Given the description of an element on the screen output the (x, y) to click on. 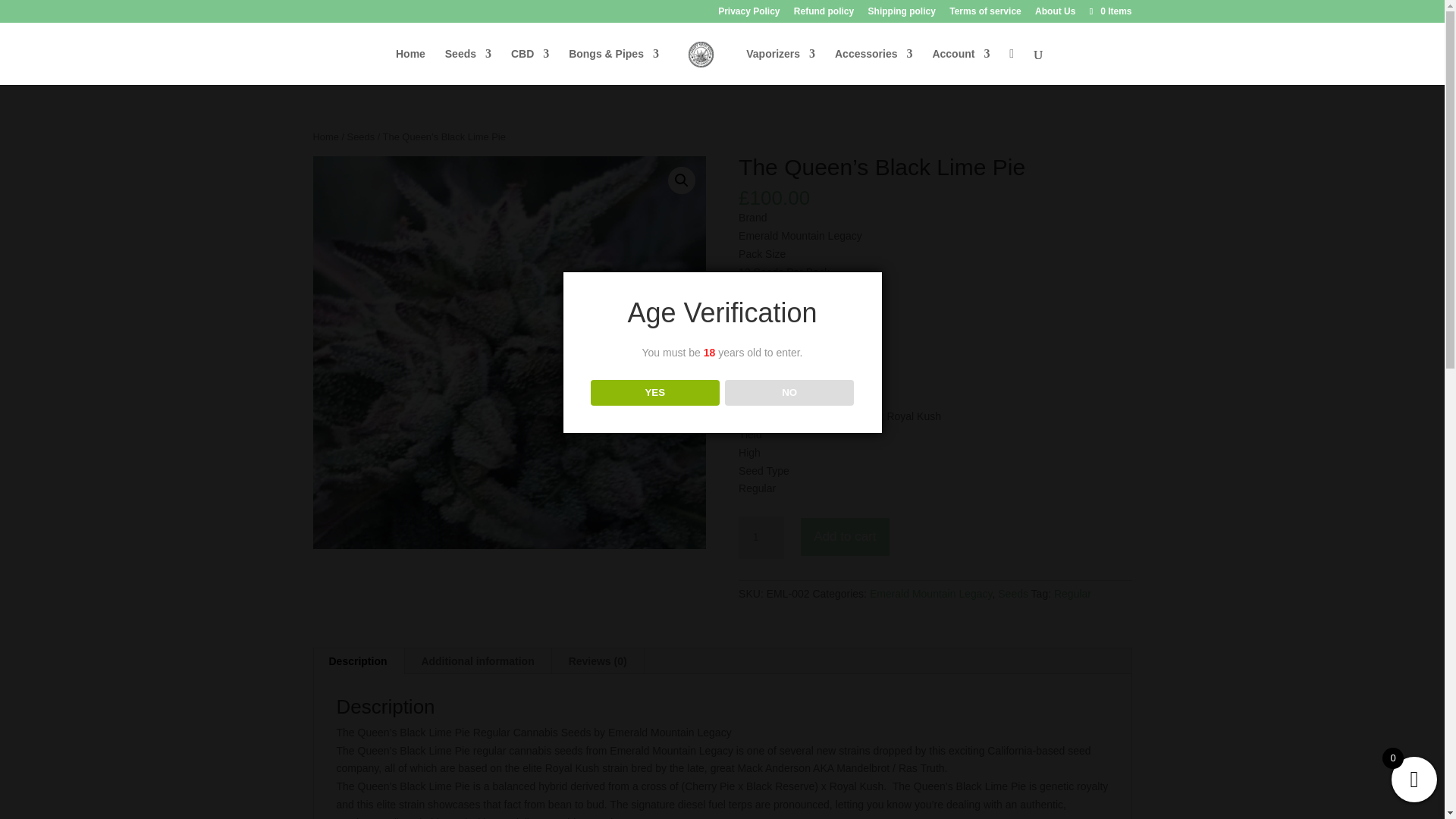
About Us (1055, 14)
Refund policy (823, 14)
Privacy Policy (747, 14)
Shipping policy (901, 14)
Accessories (873, 66)
CBD (529, 66)
1 (761, 537)
Terms of service (985, 14)
0 Items (1108, 10)
